Given the description of an element on the screen output the (x, y) to click on. 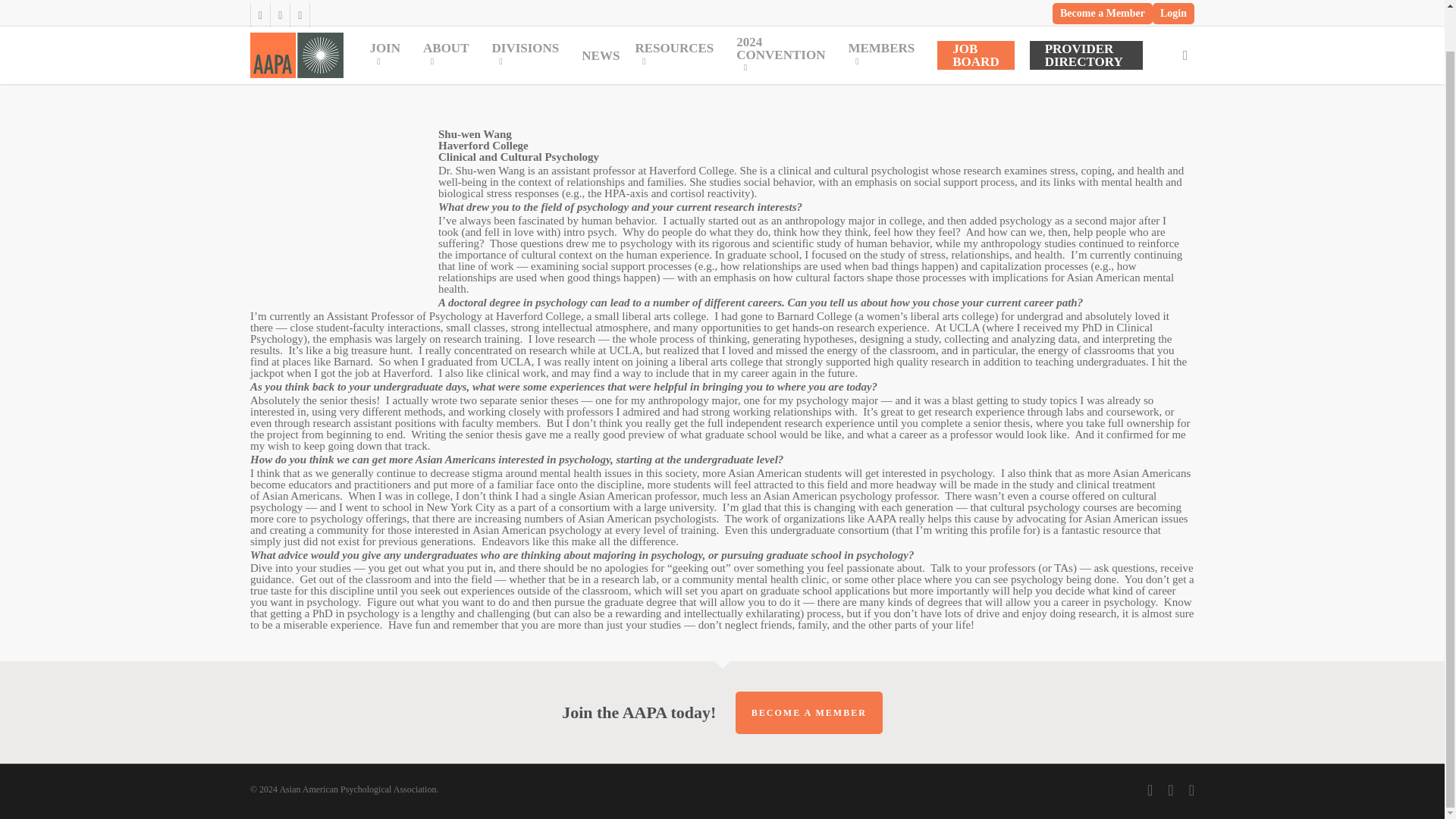
DIVISIONS (528, 12)
NEWS (600, 11)
JOIN (387, 12)
ABOUT (448, 12)
RESOURCES (678, 12)
